Given the description of an element on the screen output the (x, y) to click on. 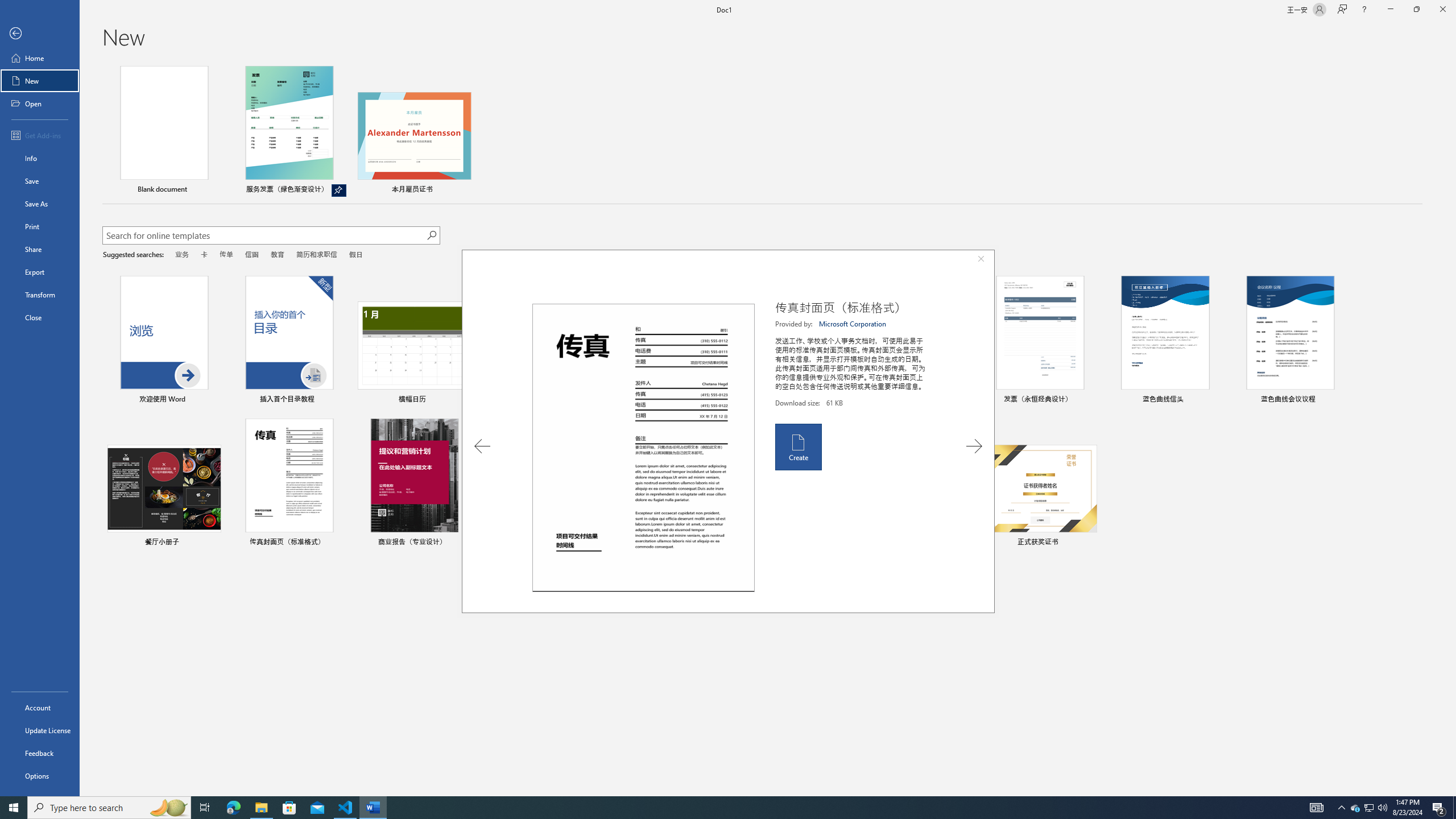
Class: NetUIScrollBar (1450, 428)
Feedback (40, 753)
Microsoft Corporation (853, 323)
Export (40, 271)
Get Add-ins (40, 134)
Account (40, 707)
Preview (643, 447)
